Given the description of an element on the screen output the (x, y) to click on. 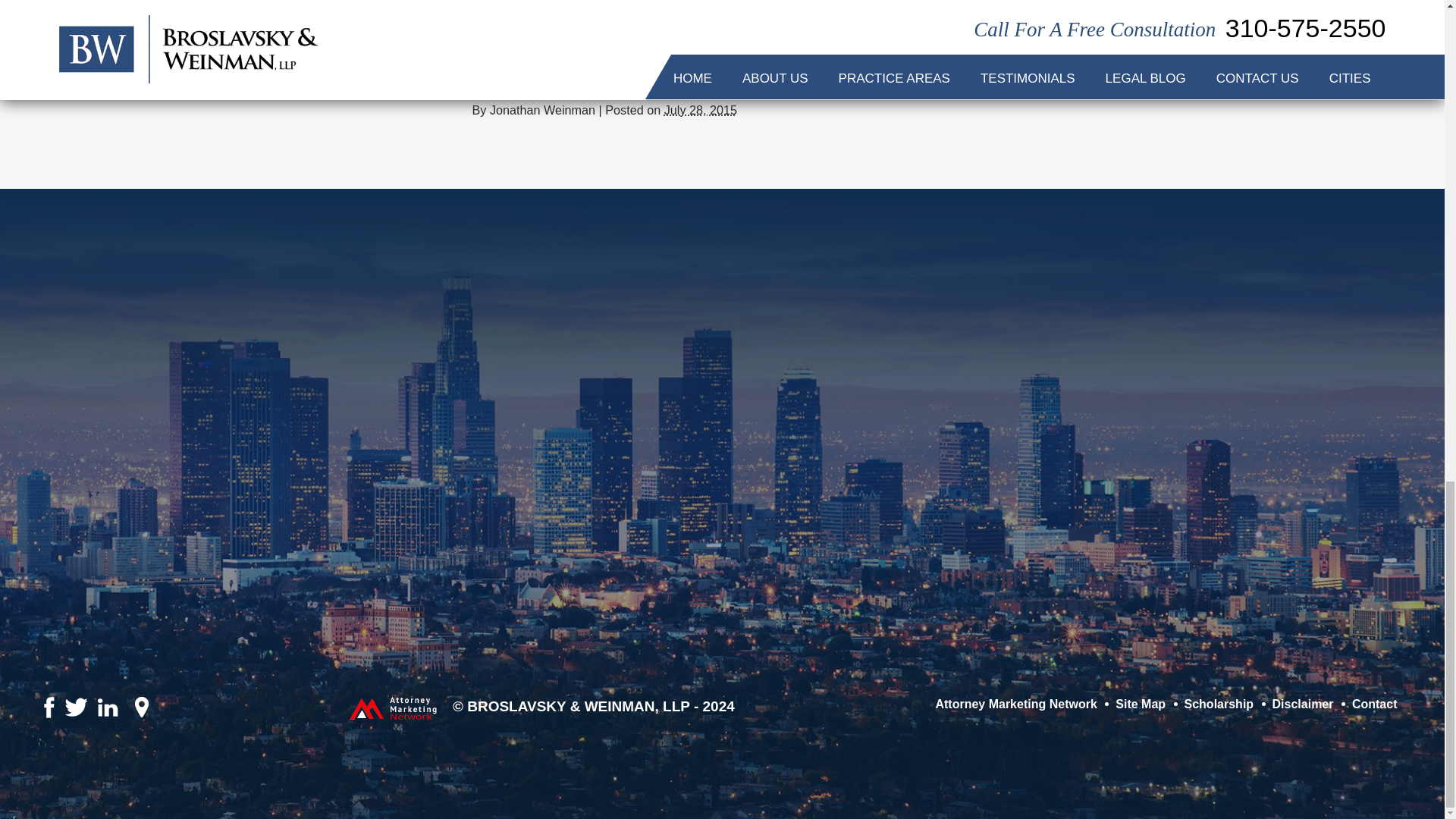
LinkedIn (499, 78)
Twitter (92, 719)
Google Plus (509, 78)
LinkedIn (102, 720)
Twitter (488, 78)
Facebook (477, 78)
Facebook (82, 718)
